Given the description of an element on the screen output the (x, y) to click on. 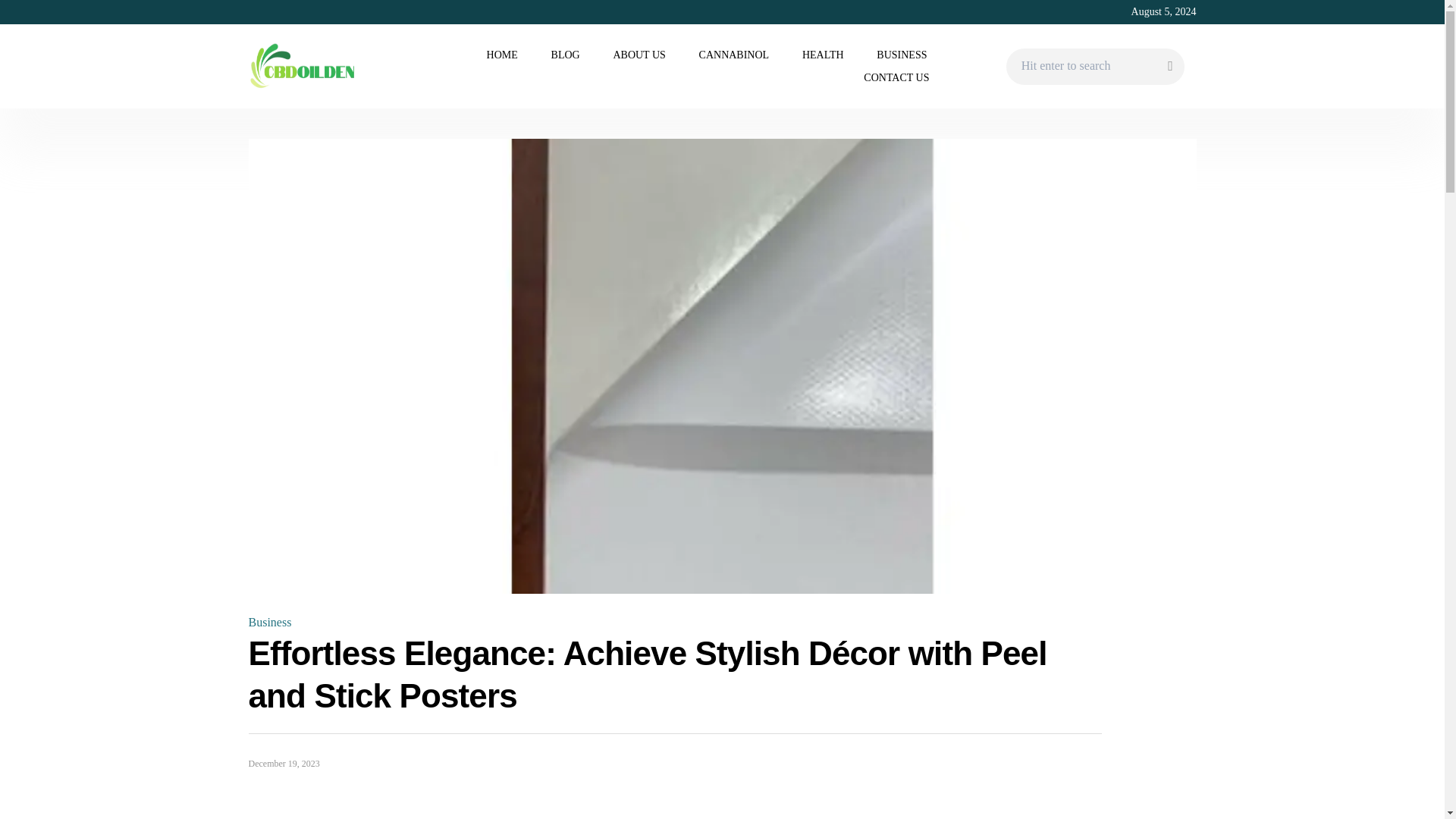
BUSINESS (901, 55)
CONTACT US (895, 77)
BLOG (565, 55)
Business (270, 622)
CANNABINOL (734, 55)
HEALTH (823, 55)
ABOUT US (637, 55)
HOME (501, 55)
